Given the description of an element on the screen output the (x, y) to click on. 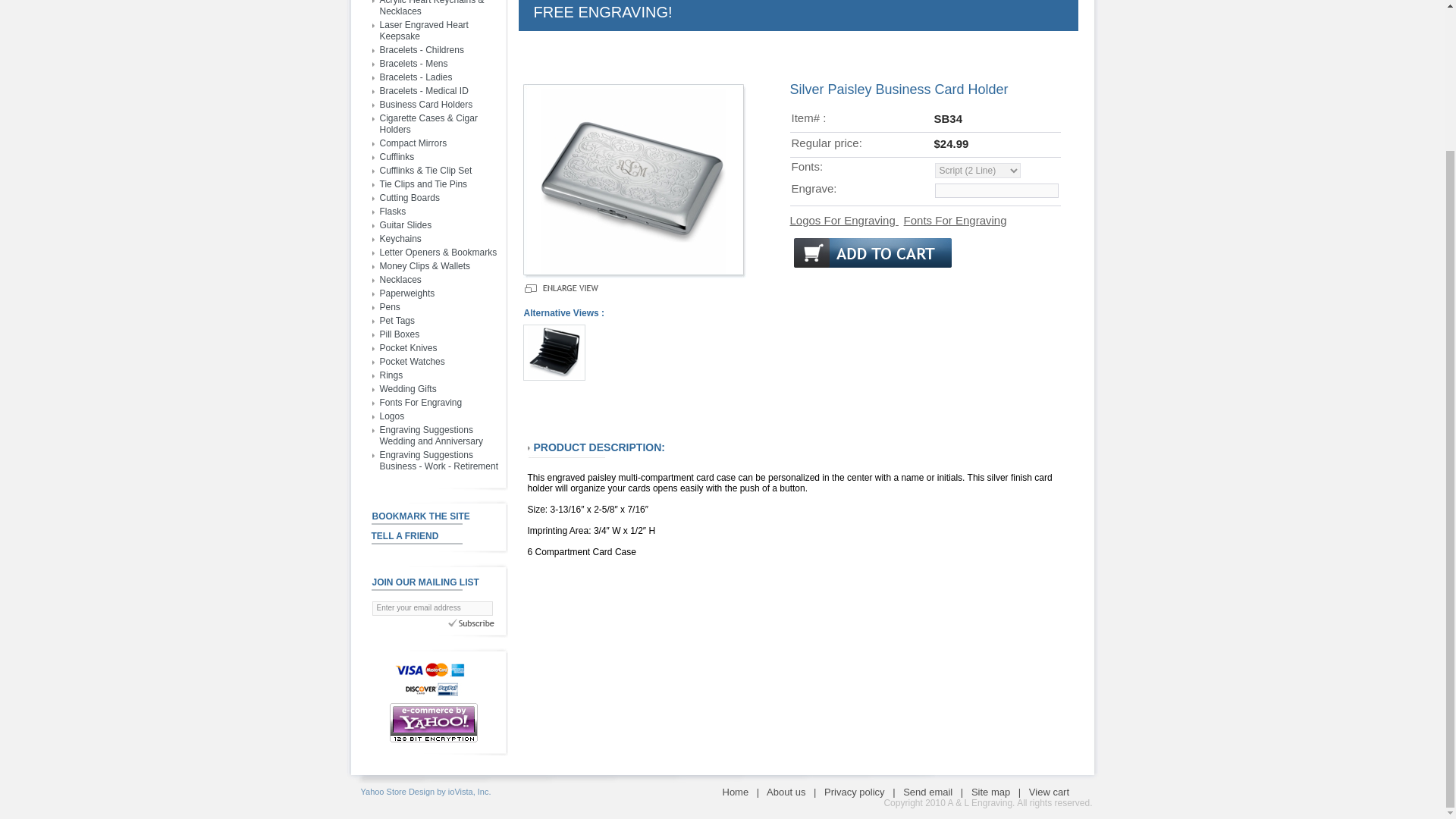
Cufflinks (395, 156)
Bracelets - Ladies (414, 77)
Pill Boxes (398, 334)
Fonts For Engraving (419, 402)
Engraving Suggestions Business - Work - Retirement (437, 460)
Logos (391, 416)
Bracelets - Medical ID (422, 90)
Compact Mirrors (412, 143)
Pocket Watches (411, 361)
Bracelets - Mens (412, 63)
Necklaces (399, 279)
Pocket Knives (407, 347)
Bracelets - Ladies (414, 77)
Laser Engraved Heart Keepsake (422, 30)
Rings (390, 375)
